Given the description of an element on the screen output the (x, y) to click on. 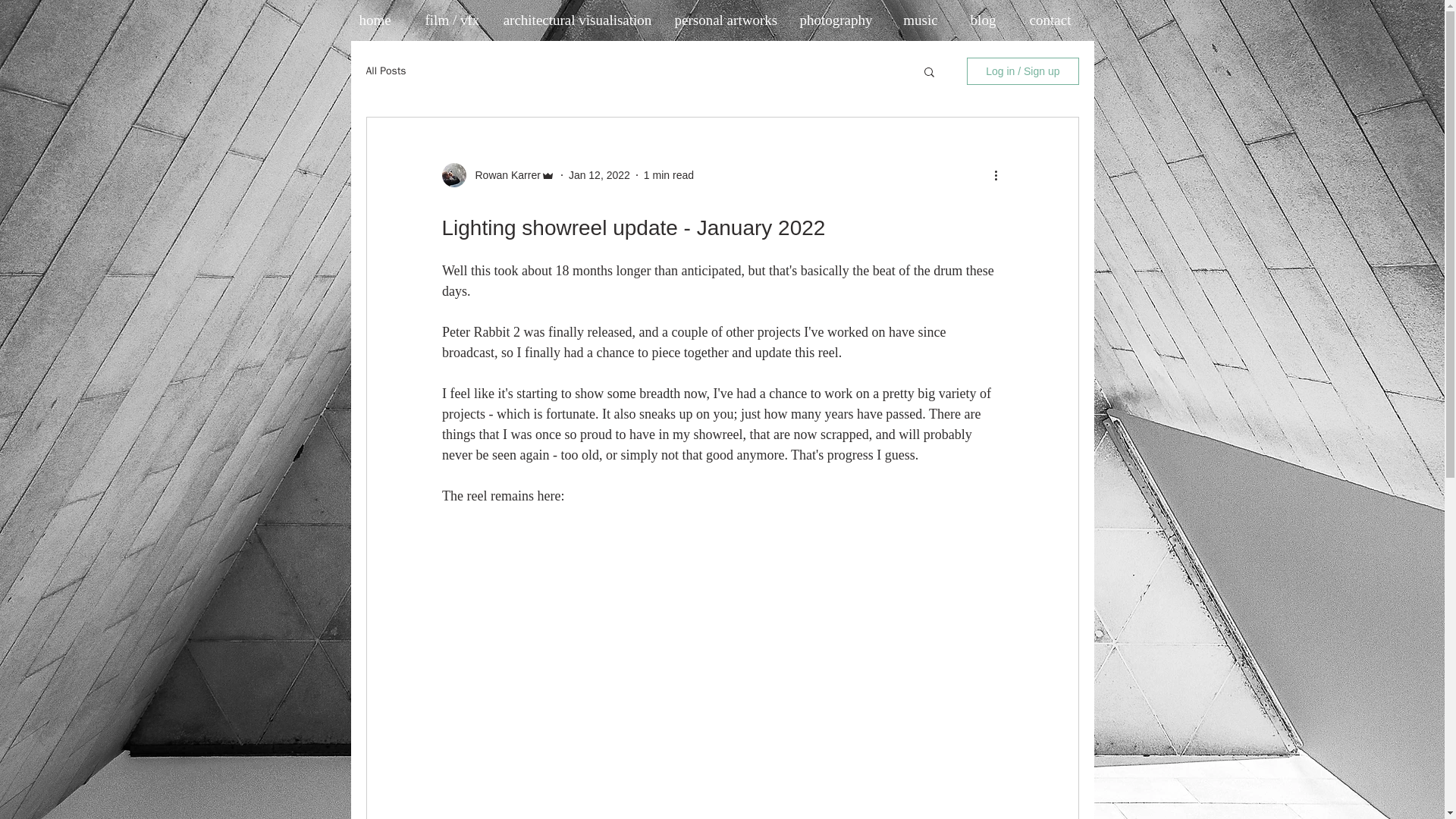
photography (835, 20)
home (375, 20)
All Posts (385, 70)
Rowan Karrer (502, 174)
architectural visualisation (577, 20)
1 min read (668, 174)
Jan 12, 2022 (599, 174)
music (920, 20)
contact (1049, 20)
personal artworks (726, 20)
